Given the description of an element on the screen output the (x, y) to click on. 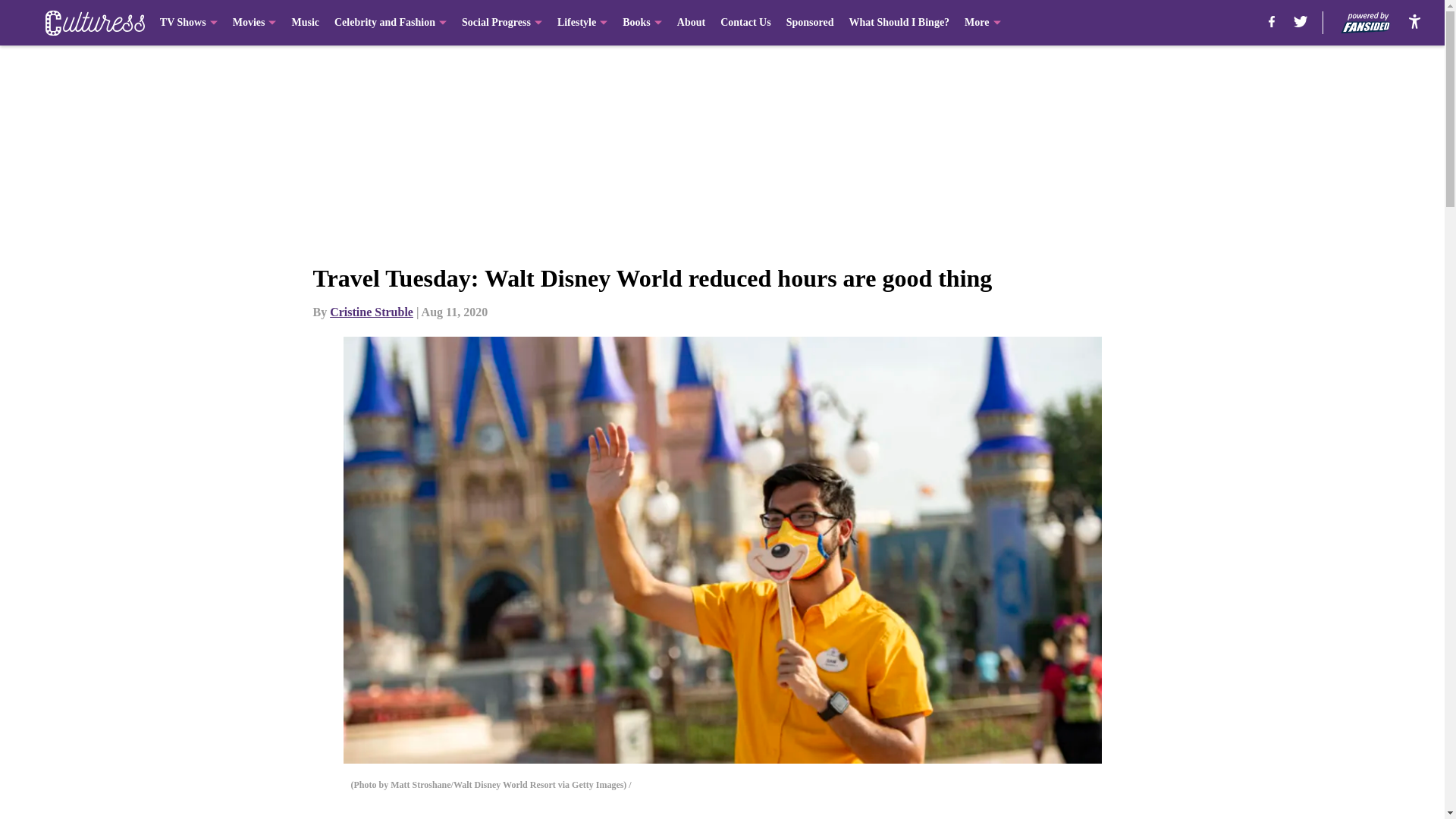
Music (304, 22)
